Given the description of an element on the screen output the (x, y) to click on. 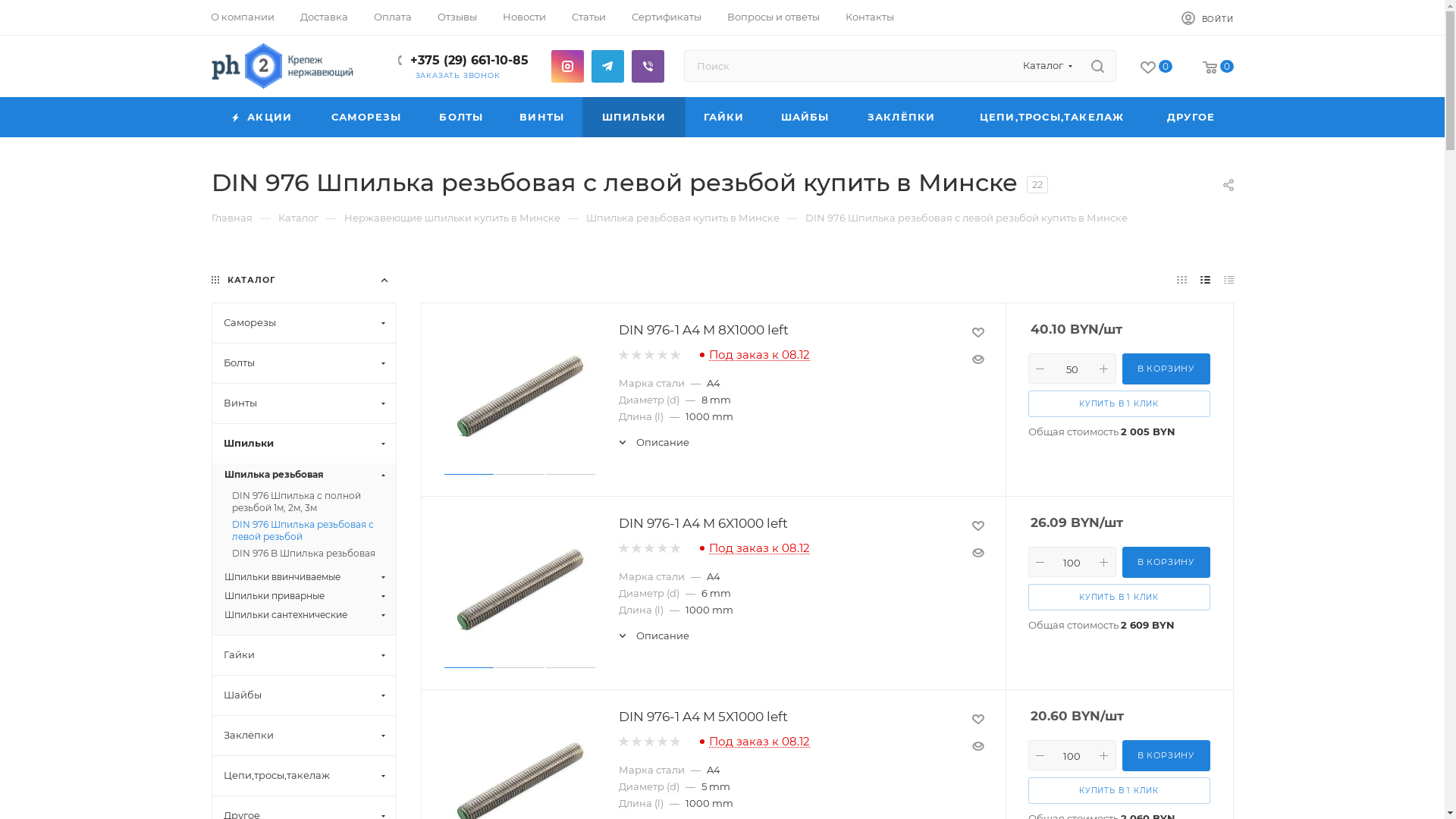
0 Element type: text (1156, 68)
0 Element type: text (1217, 68)
+375 (29) 661-10-85 Element type: text (468, 60)
DIN 976-1 A4 M 5X1000 left Element type: text (702, 716)
Viber Element type: text (646, 66)
Telegram Element type: text (607, 66)
DIN 976-1 A4 M 8X1000 left Element type: text (703, 330)
DIN 976-1 A4 M 6X1000 left Element type: text (702, 523)
Instagram Element type: text (566, 66)
Y Element type: text (4, 4)
